Given the description of an element on the screen output the (x, y) to click on. 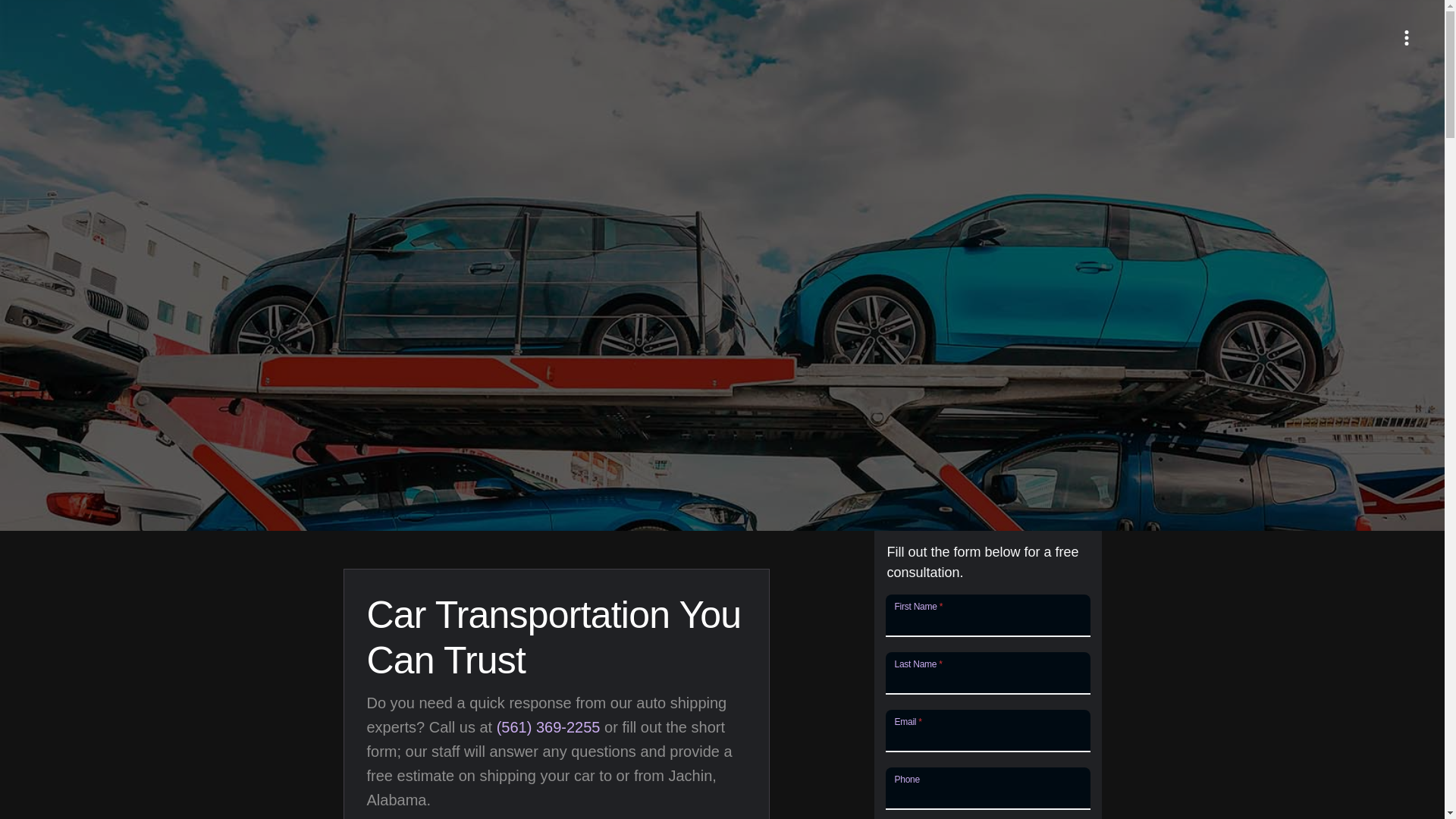
HOME (1090, 1)
FAQ (1142, 1)
REVIEWS (1395, 1)
SERVICES (1207, 1)
GET A QUOTE (1302, 1)
